Given the description of an element on the screen output the (x, y) to click on. 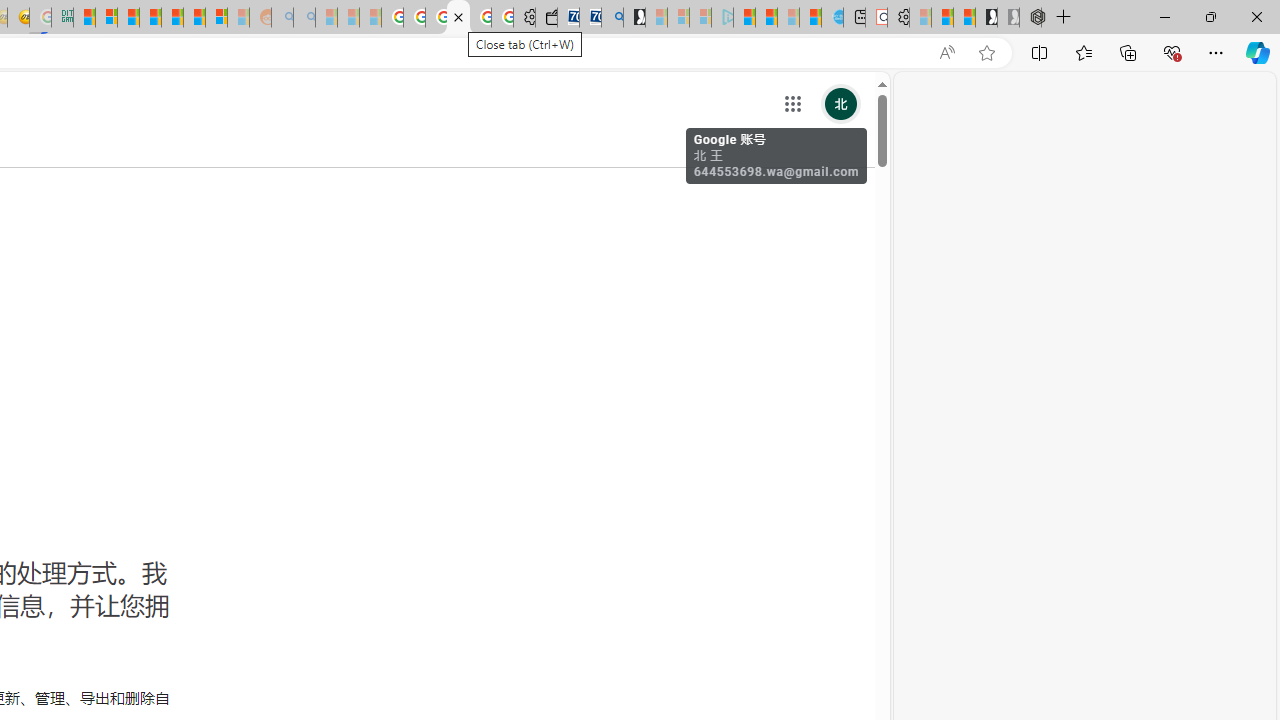
Class: gb_E (792, 103)
Student Loan Update: Forgiveness Program Ends This Month (150, 17)
Wallet (546, 17)
